Given the description of an element on the screen output the (x, y) to click on. 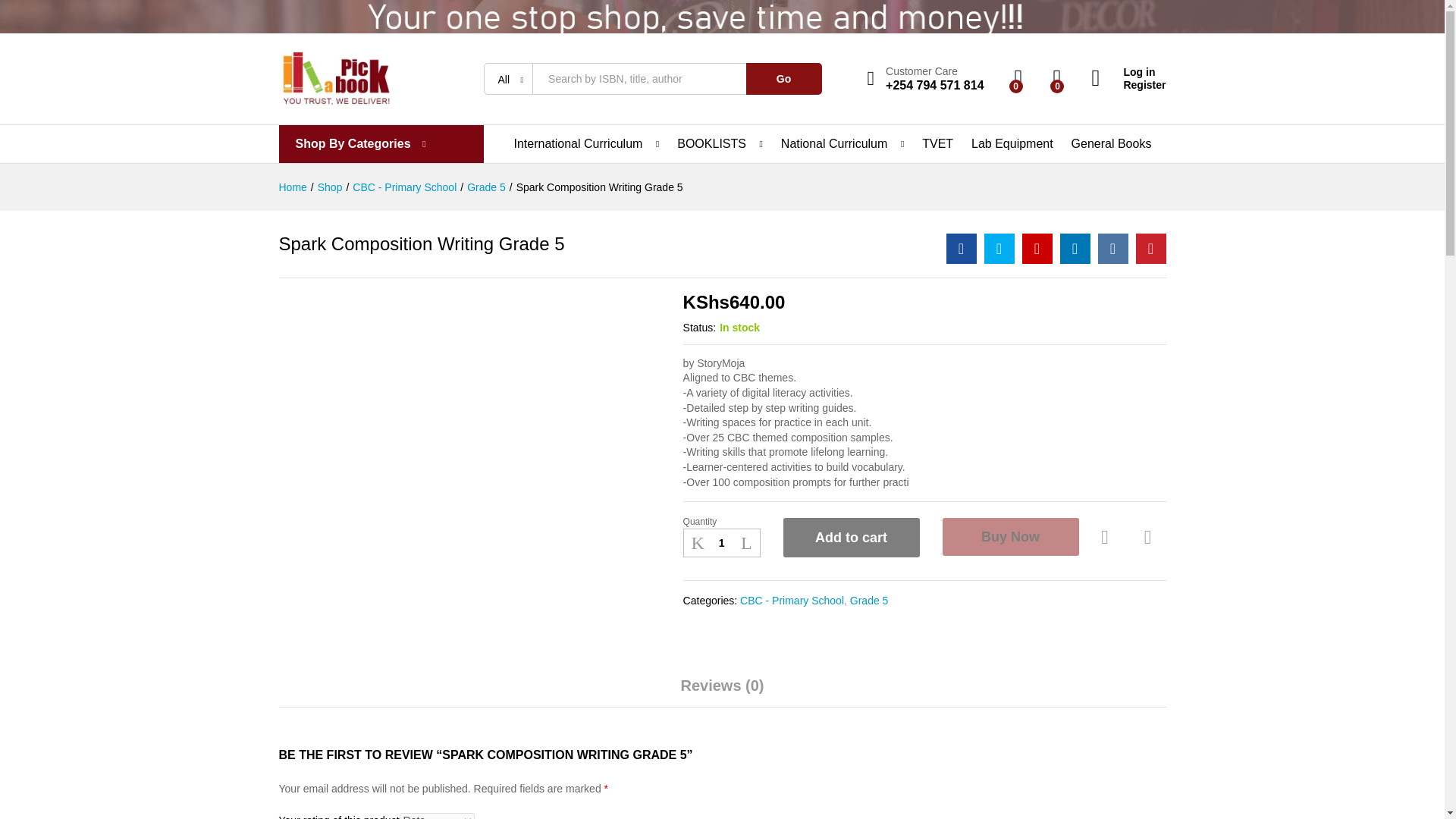
Spark Composition Writing Grade 5 (1037, 248)
1 (721, 542)
Spark Composition Writing Grade 5 (961, 248)
Add to Wishlist (1106, 537)
Compare (1147, 537)
Qty (721, 542)
